Given the description of an element on the screen output the (x, y) to click on. 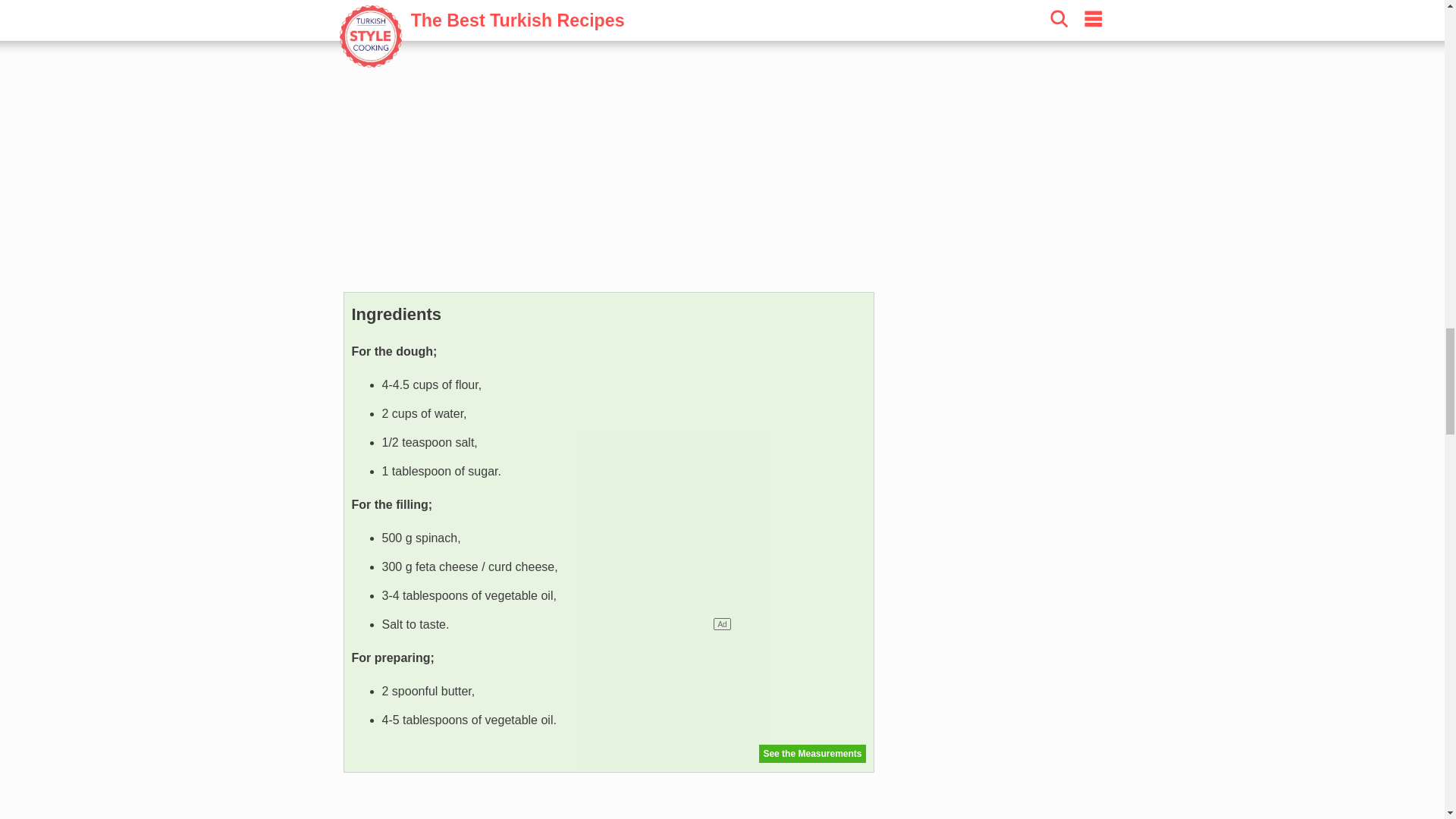
3rd party ad content (607, 158)
See the Measurements (811, 753)
